Given the description of an element on the screen output the (x, y) to click on. 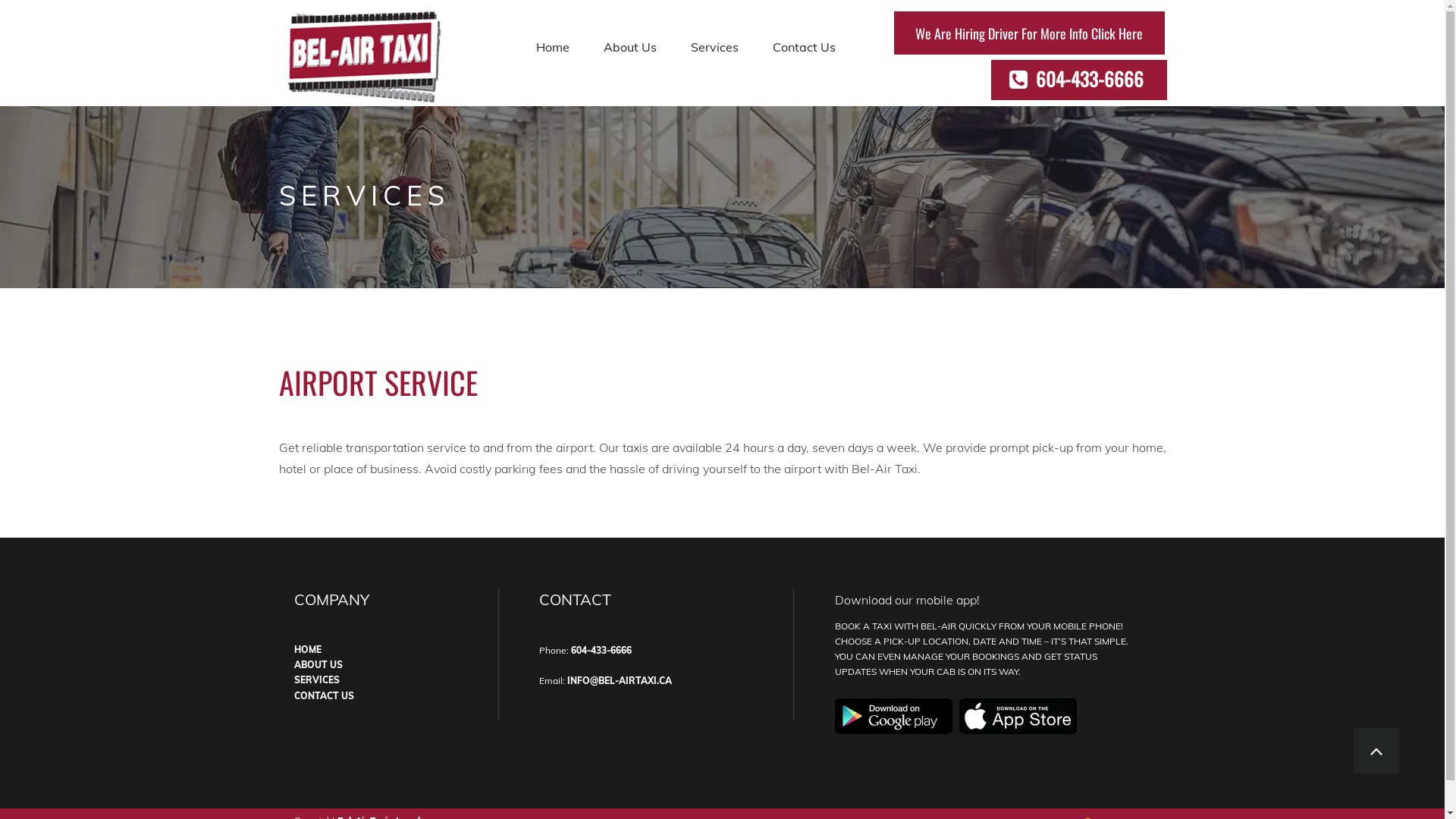
  604-433-6666 Element type: text (1084, 80)
We Are Hiring Driver For More Info Click Here Element type: text (1028, 32)
604-433-6666 Element type: text (600, 649)
INFO@BEL-AIRTAXI.CA Element type: text (619, 679)
Services Element type: text (713, 48)
Contact Us Element type: text (803, 48)
About Us Element type: text (629, 48)
CONTACT US Element type: text (324, 695)
SERVICES Element type: text (316, 679)
HOME Element type: text (307, 649)
Home Element type: text (551, 48)
ABOUT US Element type: text (318, 664)
